Given the description of an element on the screen output the (x, y) to click on. 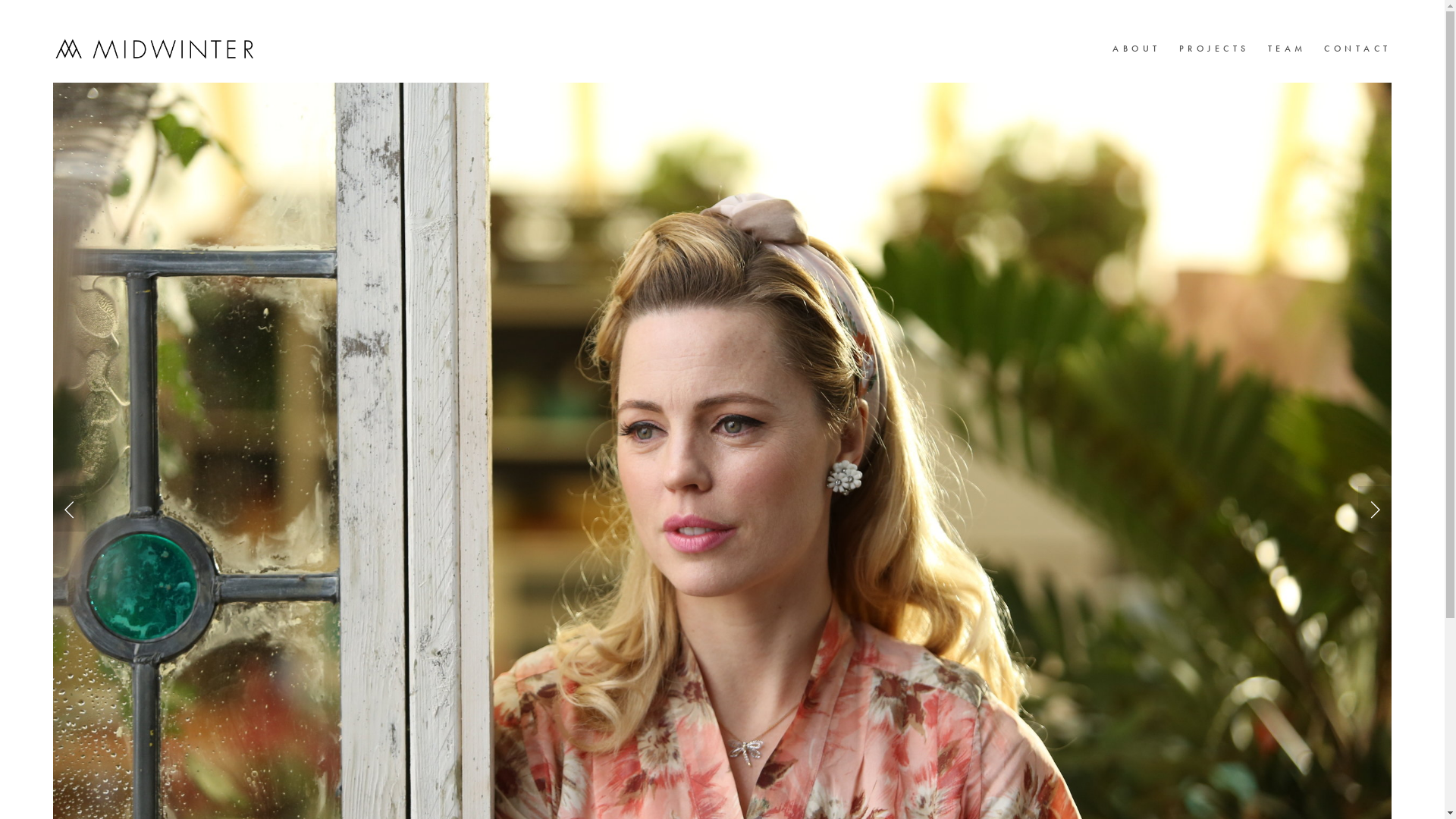
ABOUT Element type: text (1136, 48)
TEAM Element type: text (1286, 48)
CONTACT Element type: text (1357, 48)
PROJECTS Element type: text (1214, 48)
